Given the description of an element on the screen output the (x, y) to click on. 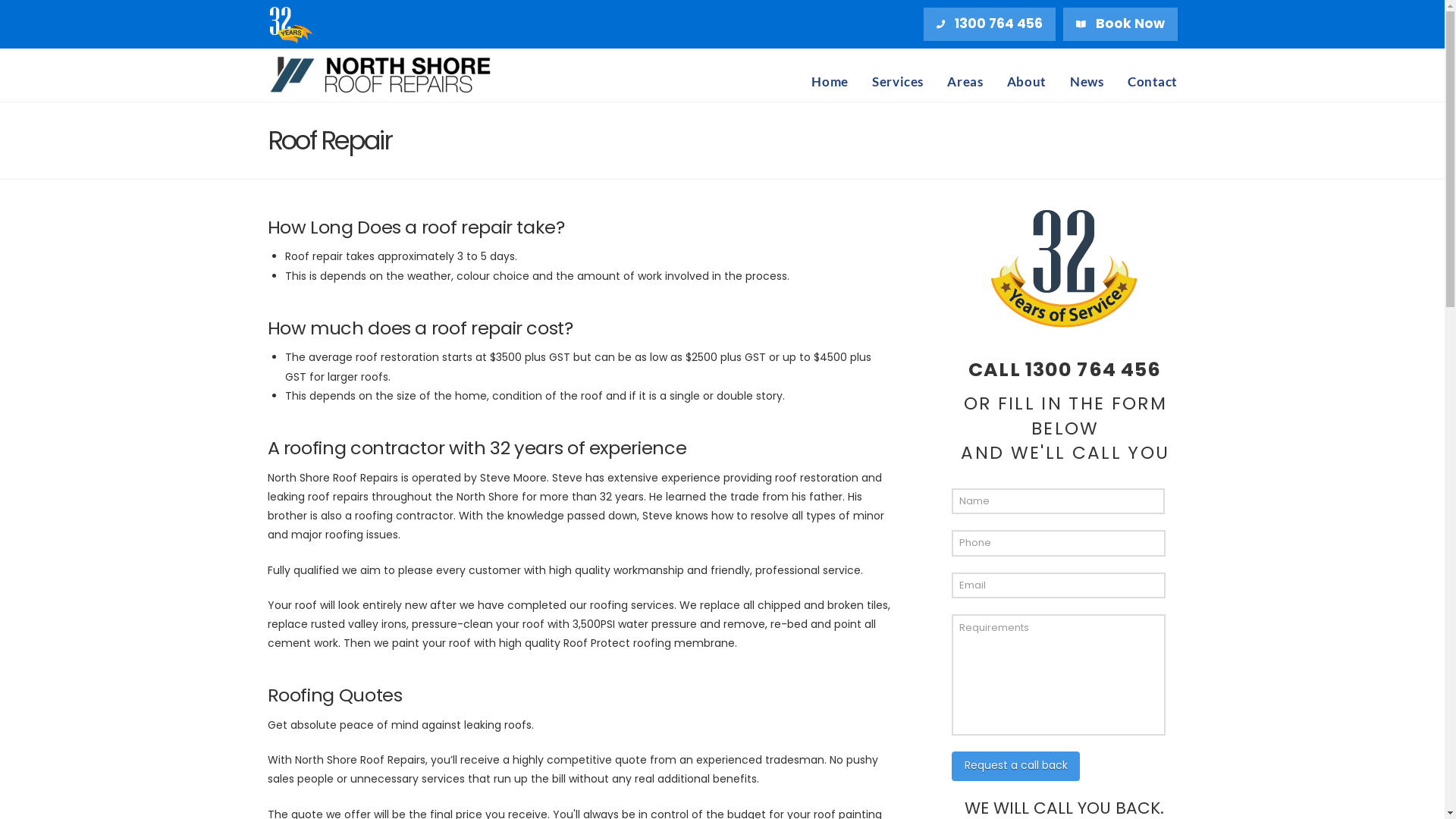
Request a call back Element type: text (1015, 766)
Book Now Element type: text (1120, 23)
Home Element type: text (829, 74)
Services Element type: text (897, 74)
Contact Element type: text (1146, 74)
Areas Element type: text (964, 74)
News Element type: text (1086, 74)
1300 764 456 Element type: text (989, 23)
1300 764 456 Element type: text (1093, 369)
About Element type: text (1025, 74)
